Given the description of an element on the screen output the (x, y) to click on. 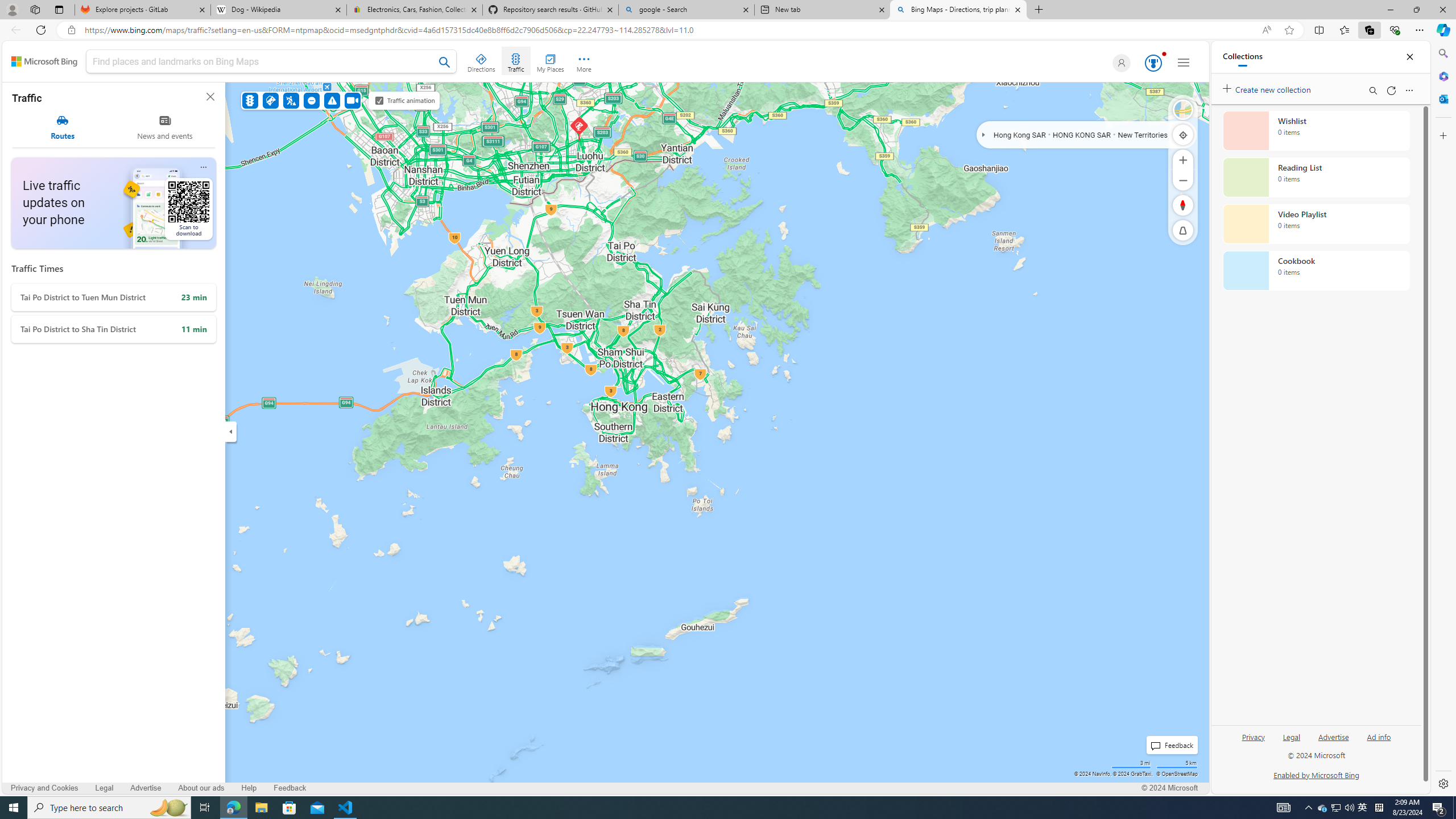
Satellite (1182, 109)
About our ads (200, 787)
Wishlist collection, 0 items (1316, 130)
Settings and quick links (1183, 62)
Microsoft Rewards 63 (1152, 63)
Zoom In (1182, 159)
Privacy and Cookies (44, 787)
Tai Po District to Tuen Mun District (113, 297)
Streetside (1182, 109)
More (583, 60)
Electronics, Cars, Fashion, Collectibles & More | eBay (414, 9)
Privacy and Cookies (44, 787)
